Given the description of an element on the screen output the (x, y) to click on. 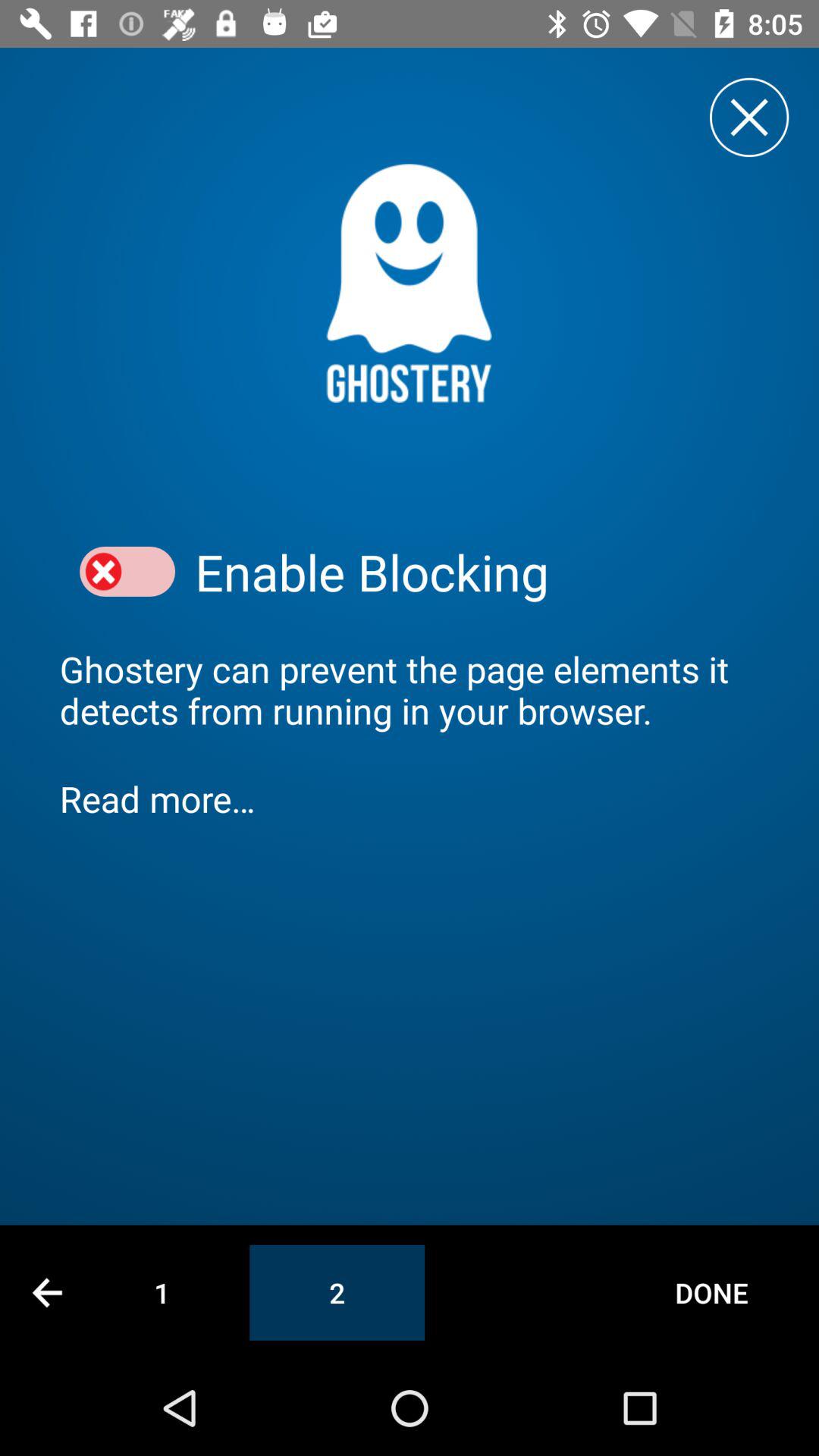
turn on item above ghostery can prevent (477, 571)
